Given the description of an element on the screen output the (x, y) to click on. 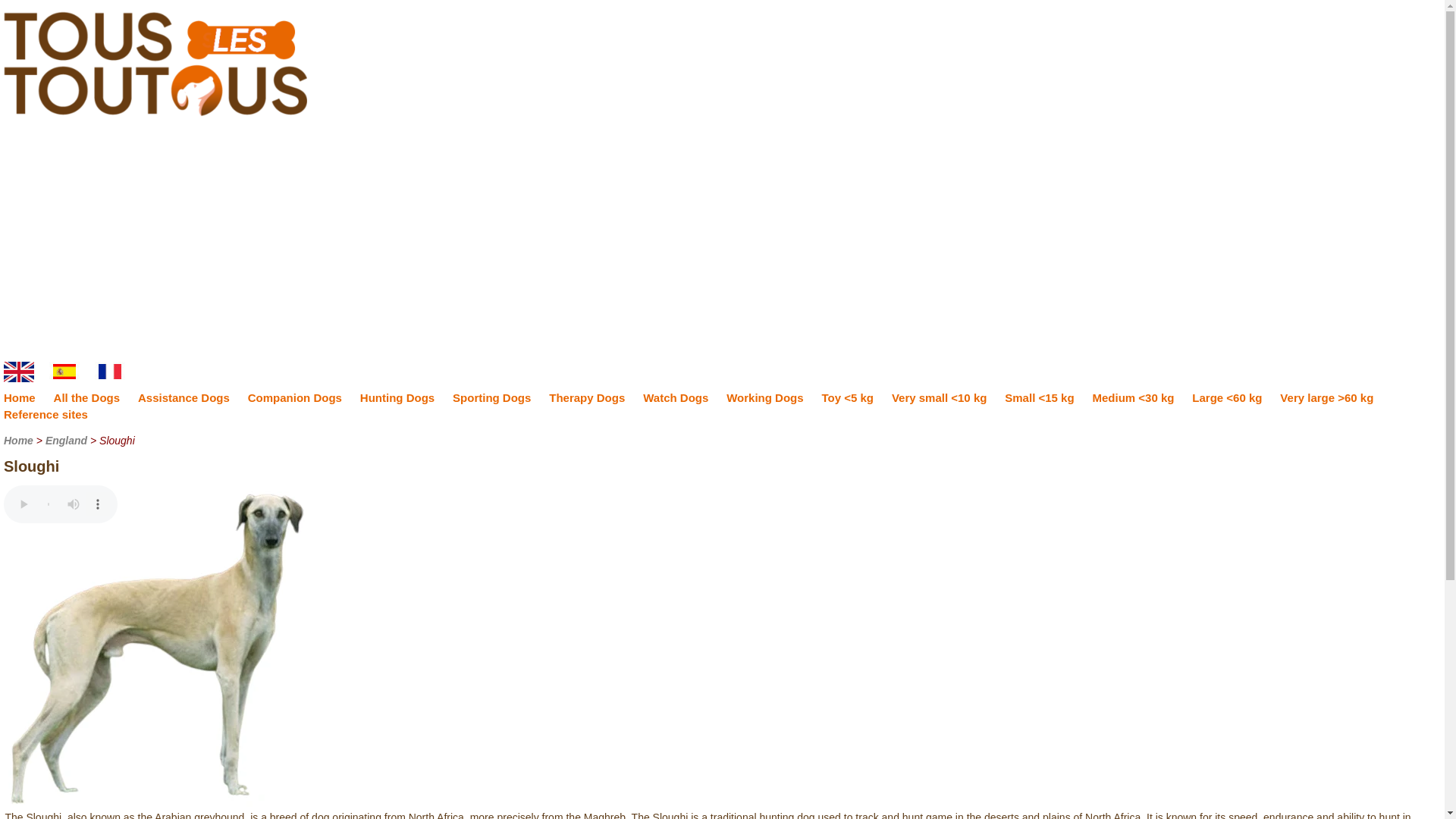
Sporting Dogs (491, 397)
Working Dogs (764, 397)
Home (18, 440)
Working dogs (764, 397)
Small-sized dogs (1039, 397)
Home touslestoutous.com (19, 397)
All the Dogs (86, 397)
Watch Dogs (675, 397)
Medium-sized dogs (1132, 397)
Assistance Dogs (184, 397)
Hunting Dogs (396, 397)
All the Dogs (86, 397)
Therapy dogs (586, 397)
Large-sized dogs (1227, 397)
